Given the description of an element on the screen output the (x, y) to click on. 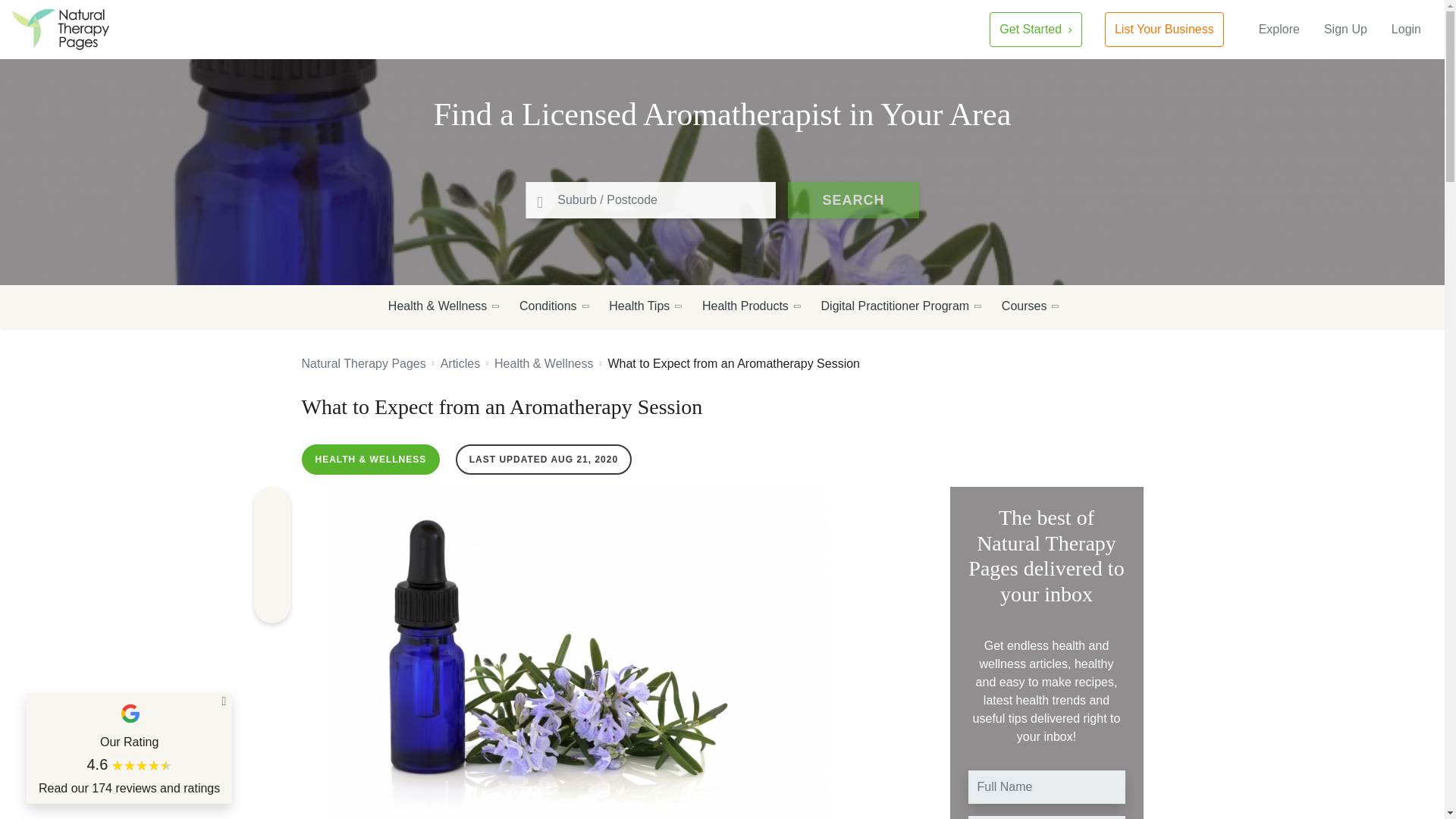
Explore (1278, 29)
Sign Up (1344, 29)
List Your Business (1164, 28)
global.social.sharePinterest (271, 538)
global.social.shareEmail (271, 604)
global.social.shareTwitter (271, 571)
global.social.shareFacebook (271, 504)
Login (1405, 29)
